Given the description of an element on the screen output the (x, y) to click on. 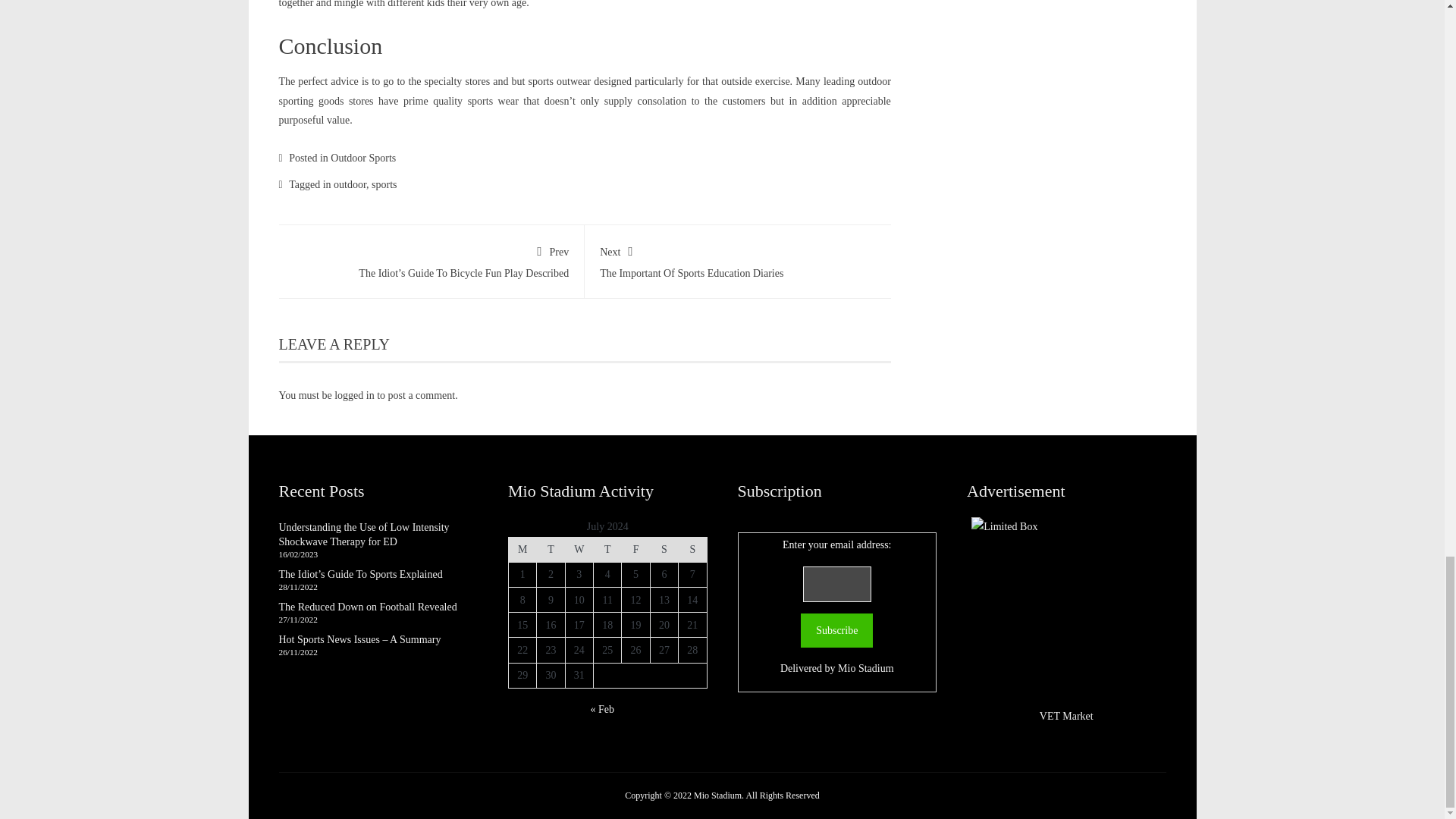
Thursday (607, 549)
Monday (521, 549)
Wednesday (578, 549)
Tuesday (550, 549)
outdoor (349, 184)
Outdoor Sports (363, 157)
Friday (635, 549)
Limited Box (1065, 611)
Saturday (663, 549)
Sunday (692, 549)
logged in (354, 395)
sports (383, 184)
Subscribe (737, 259)
